Given the description of an element on the screen output the (x, y) to click on. 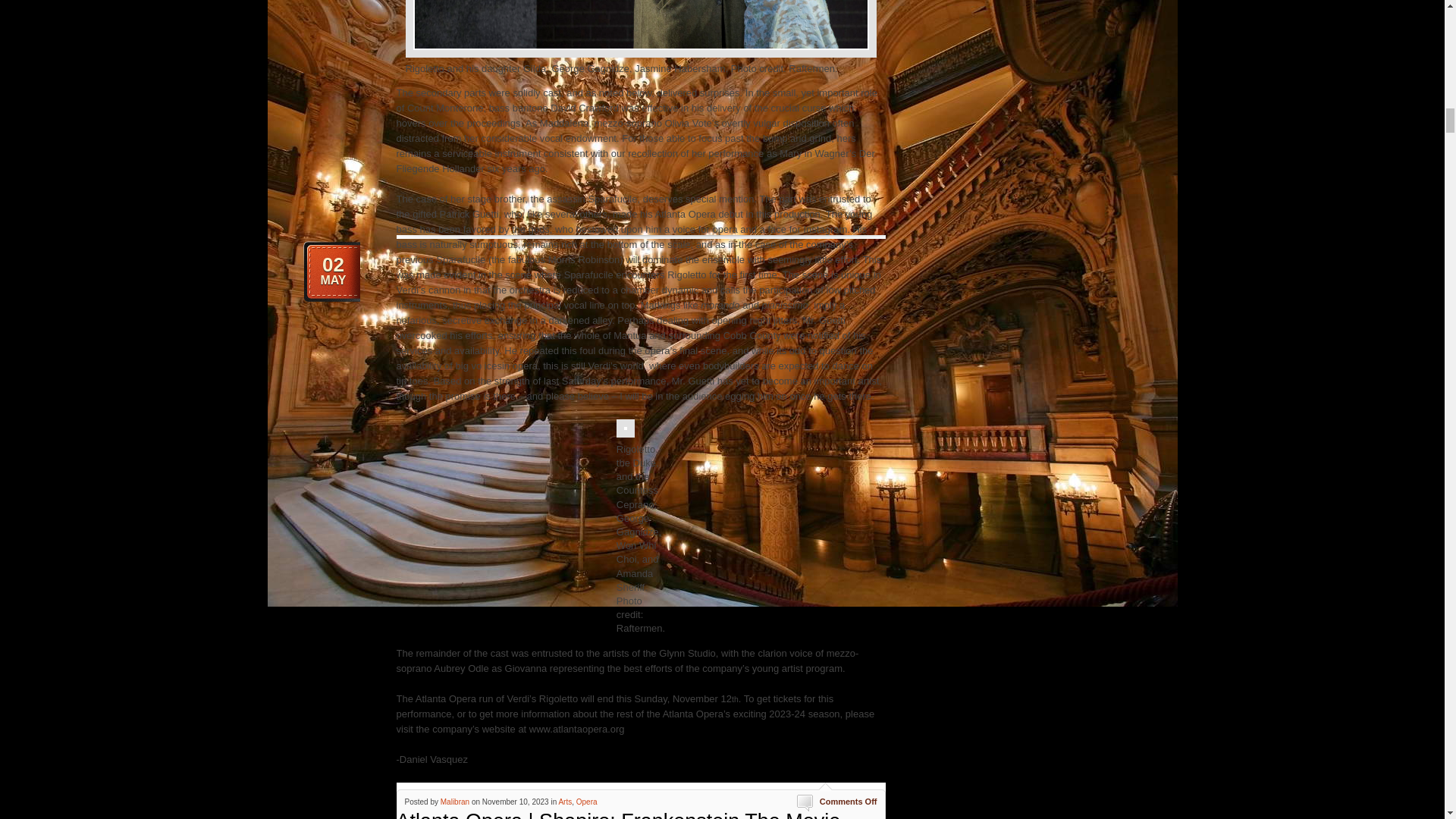
Arts (564, 801)
Malibran (454, 801)
Posts by Malibran (454, 801)
Opera (586, 801)
